Given the description of an element on the screen output the (x, y) to click on. 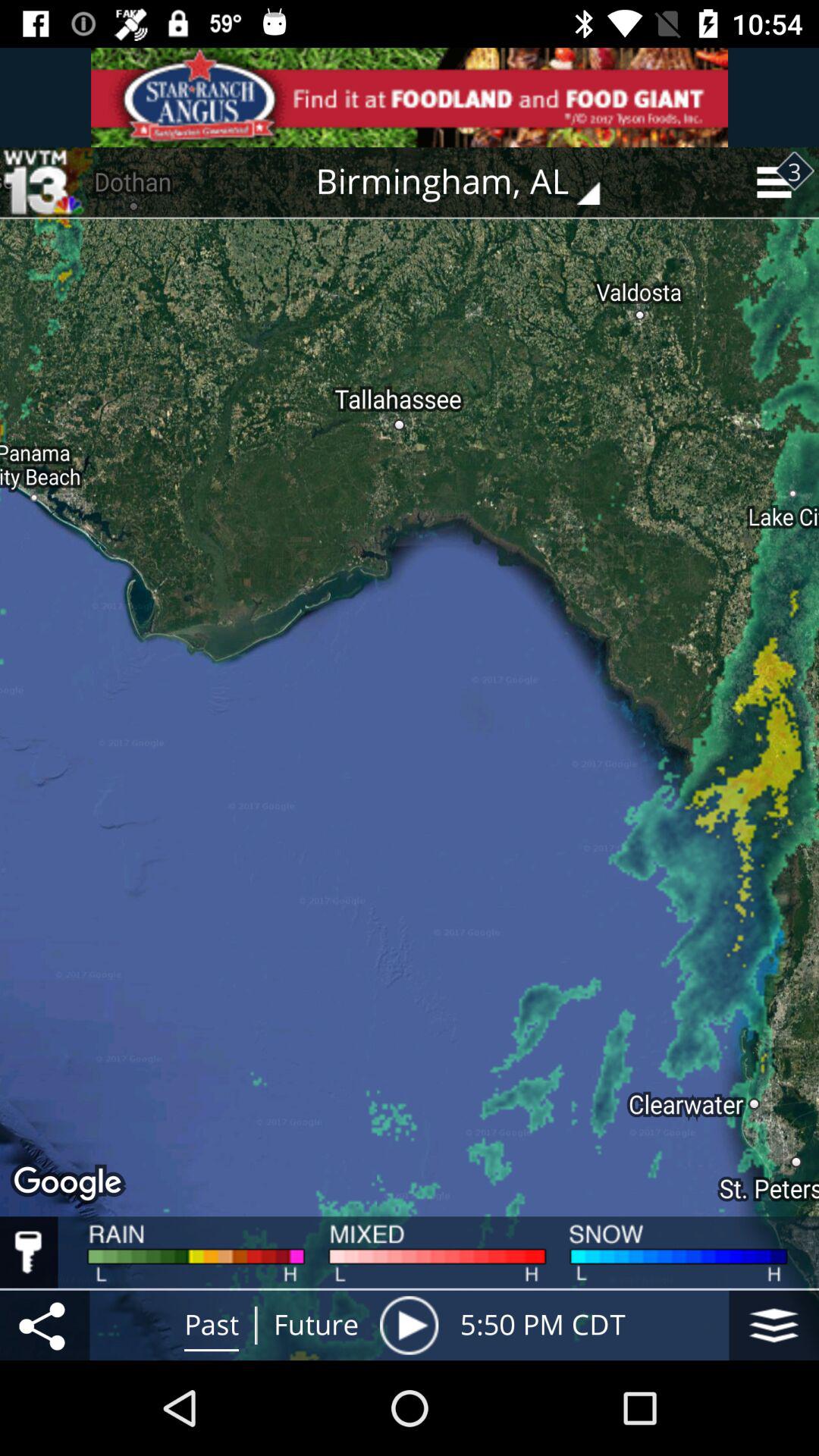
switch map type option (774, 1325)
